Given the description of an element on the screen output the (x, y) to click on. 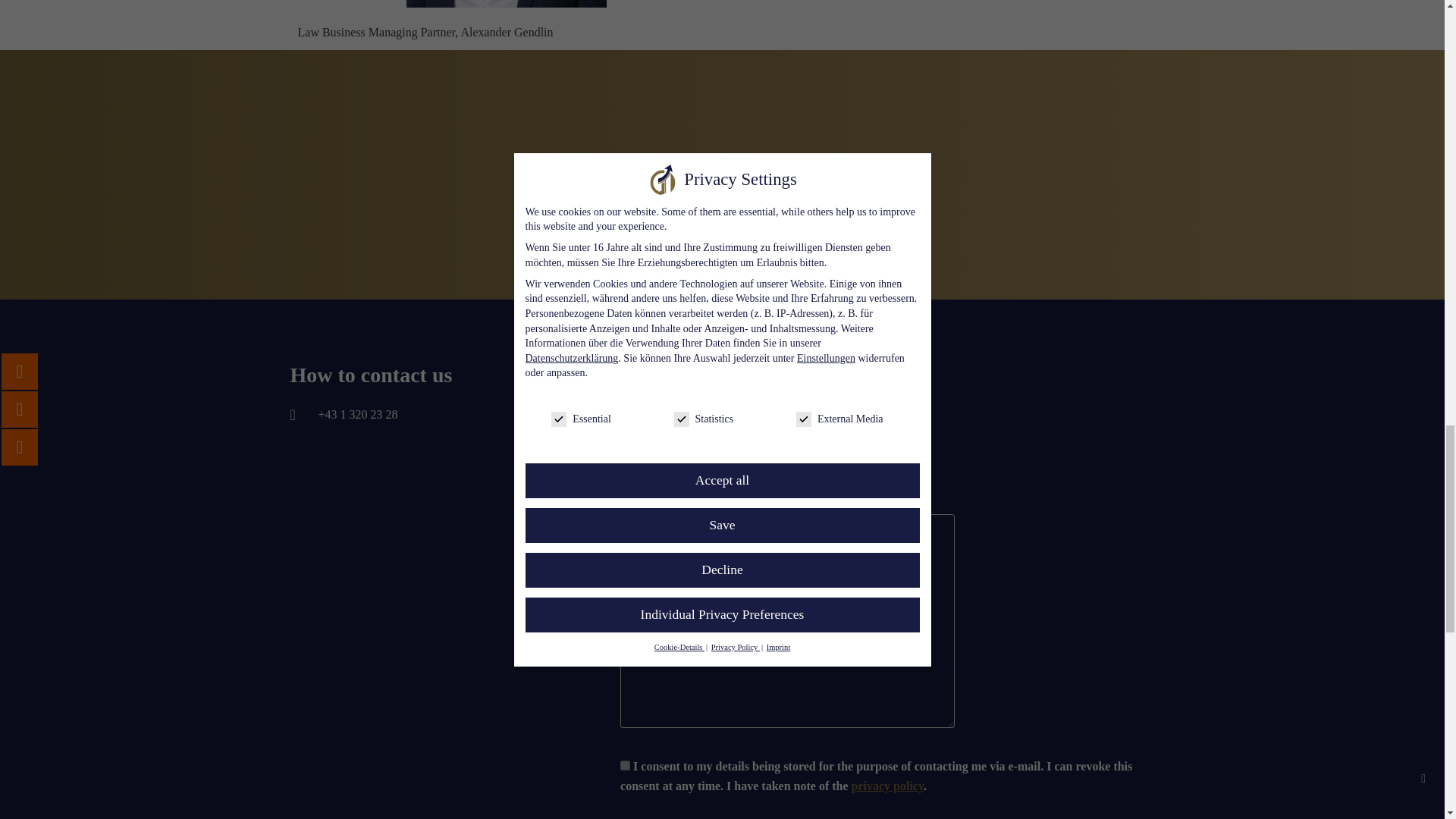
privacy policy (887, 785)
1 (625, 765)
